Given the description of an element on the screen output the (x, y) to click on. 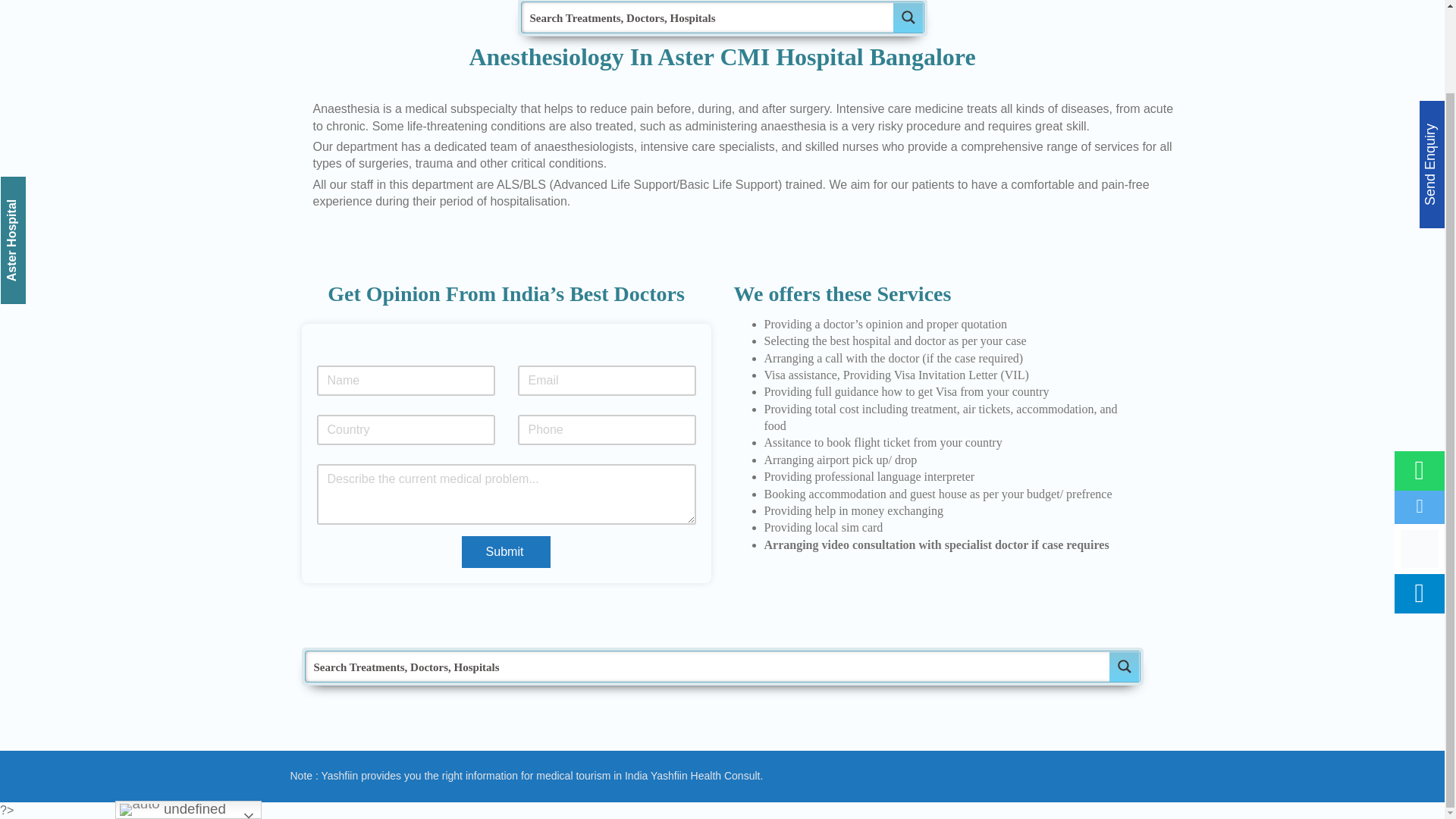
Med Procedure (1277, 51)
Hospitals (1262, 29)
Aster Hospital (46, 111)
Free Opinion (1272, 93)
Med- knowledge (1281, 72)
Doctors (1259, 8)
Submit (506, 552)
undefined (188, 715)
